Given the description of an element on the screen output the (x, y) to click on. 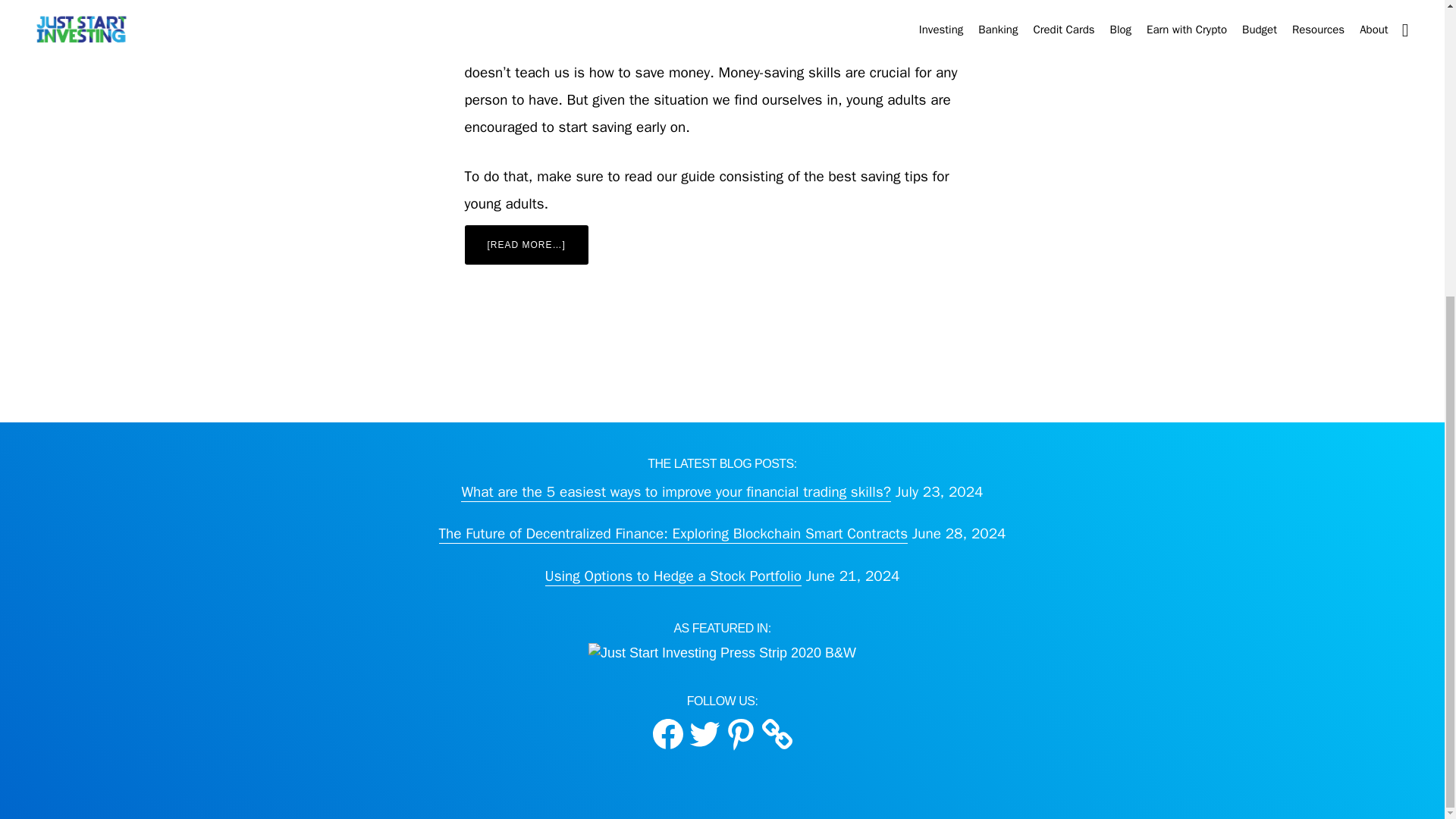
Just Start Investing's Twitter page (703, 733)
Featured In: (722, 652)
Just Start Investing's Facebook page (667, 733)
Just Start Investing's Pinterest page (740, 733)
Just Start Investing's Website (776, 733)
